Given the description of an element on the screen output the (x, y) to click on. 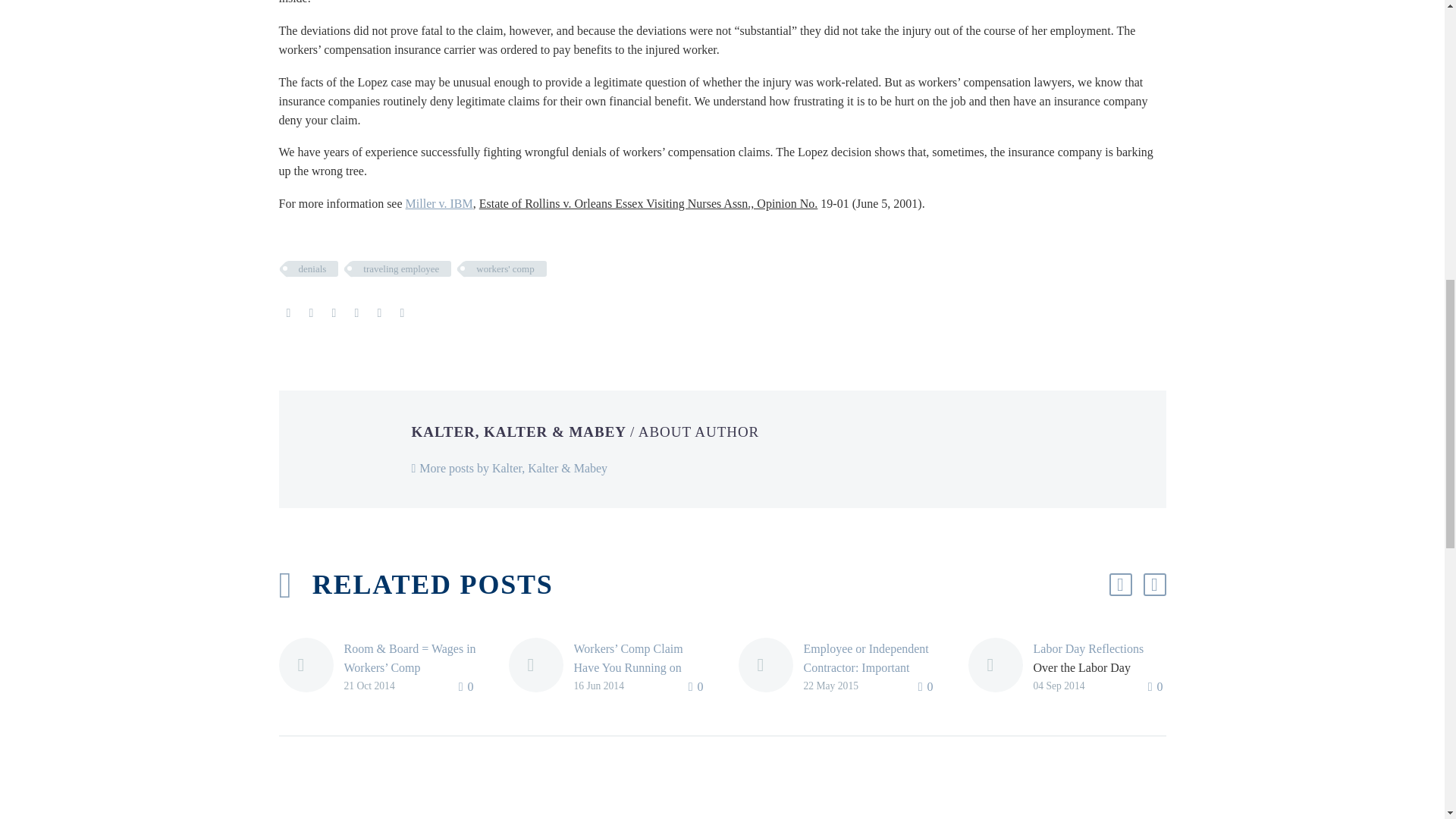
Pinterest (333, 313)
Facebook (288, 313)
Twitter (310, 313)
Like this (697, 686)
Like this (467, 686)
LinkedIn (378, 313)
Tumblr (356, 313)
Reddit (401, 313)
Like this (927, 686)
